Given the description of an element on the screen output the (x, y) to click on. 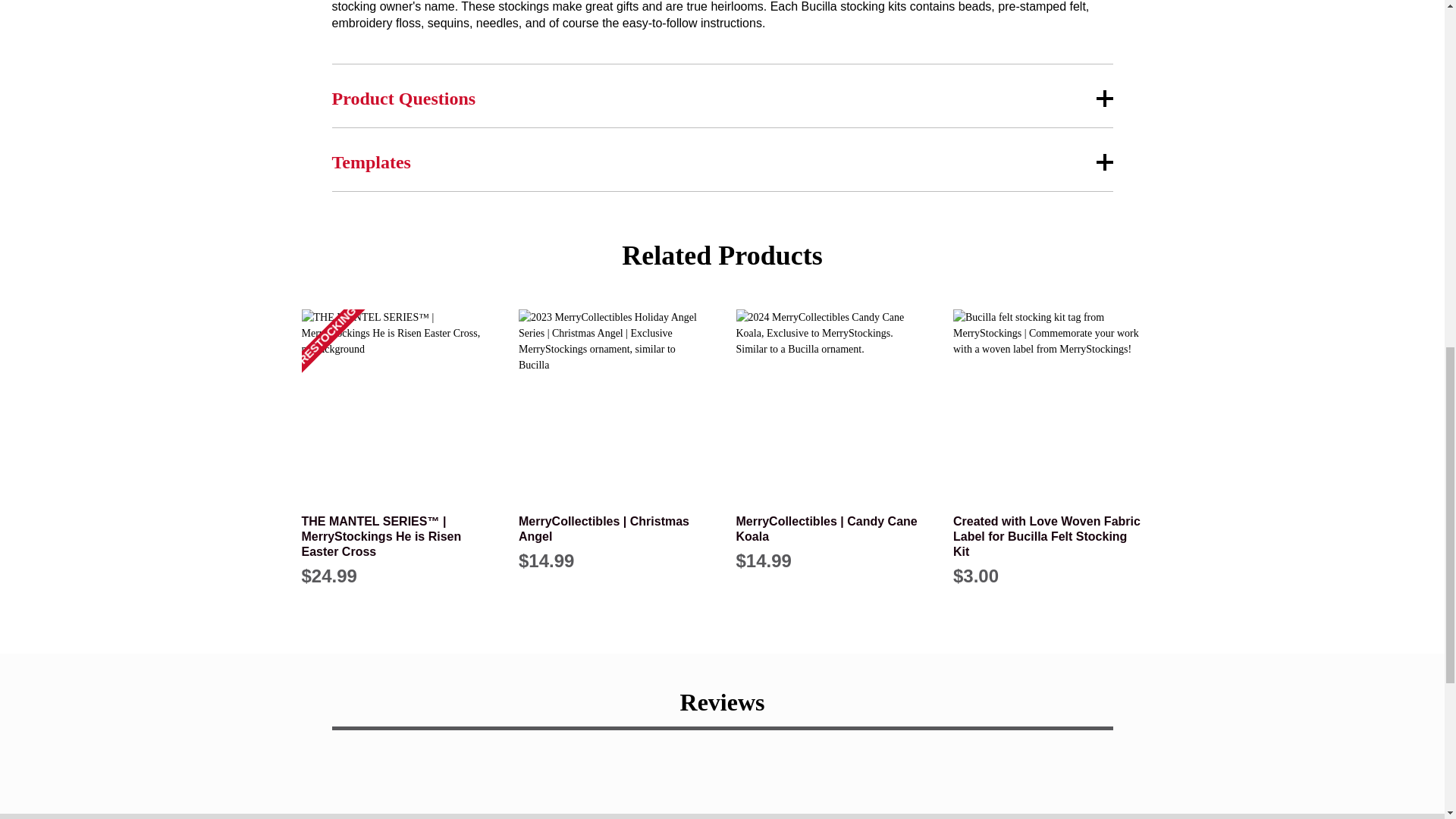
Bucilla stocking kits (854, 6)
